Given the description of an element on the screen output the (x, y) to click on. 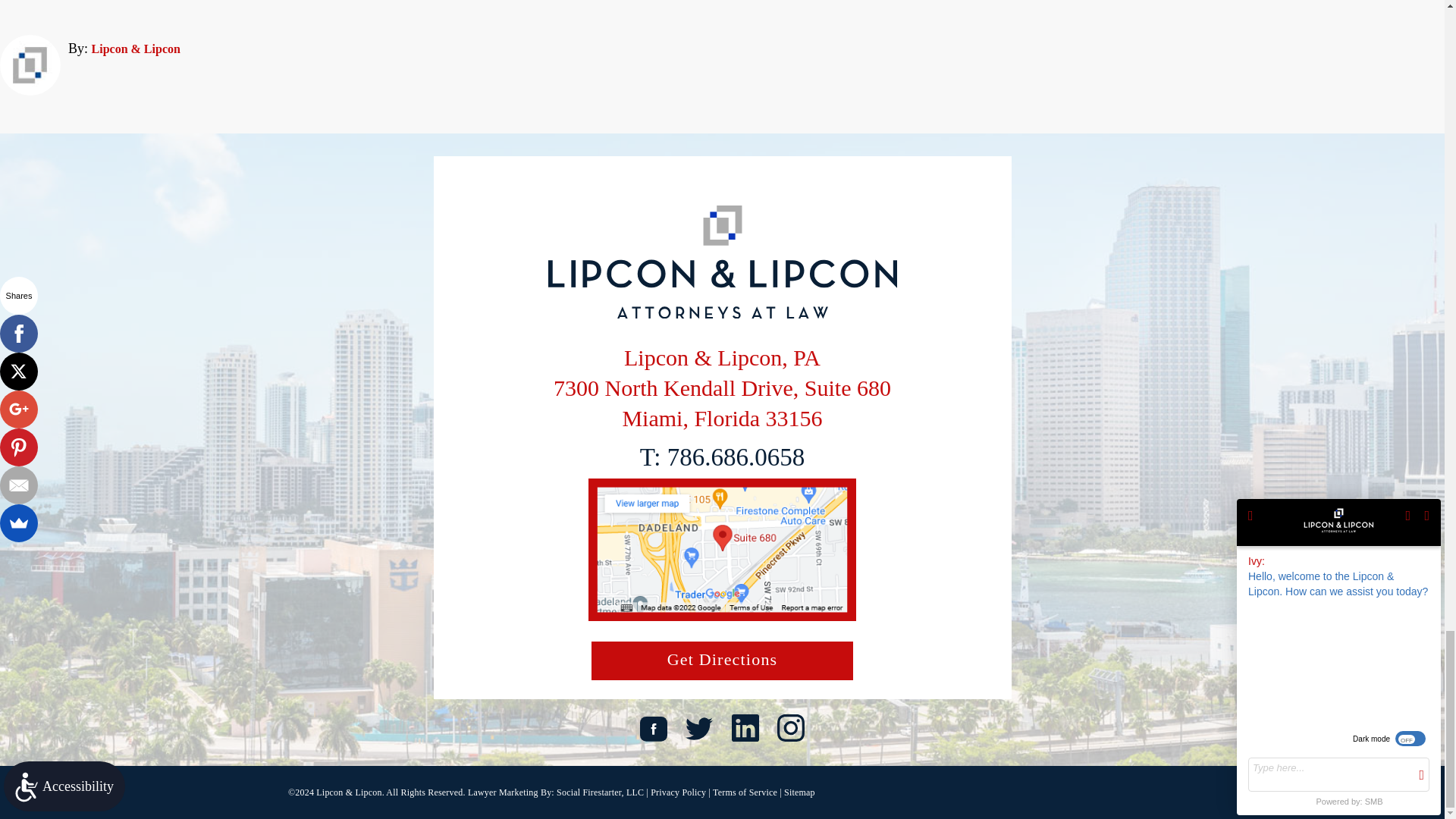
Click to activate map (722, 616)
